Given the description of an element on the screen output the (x, y) to click on. 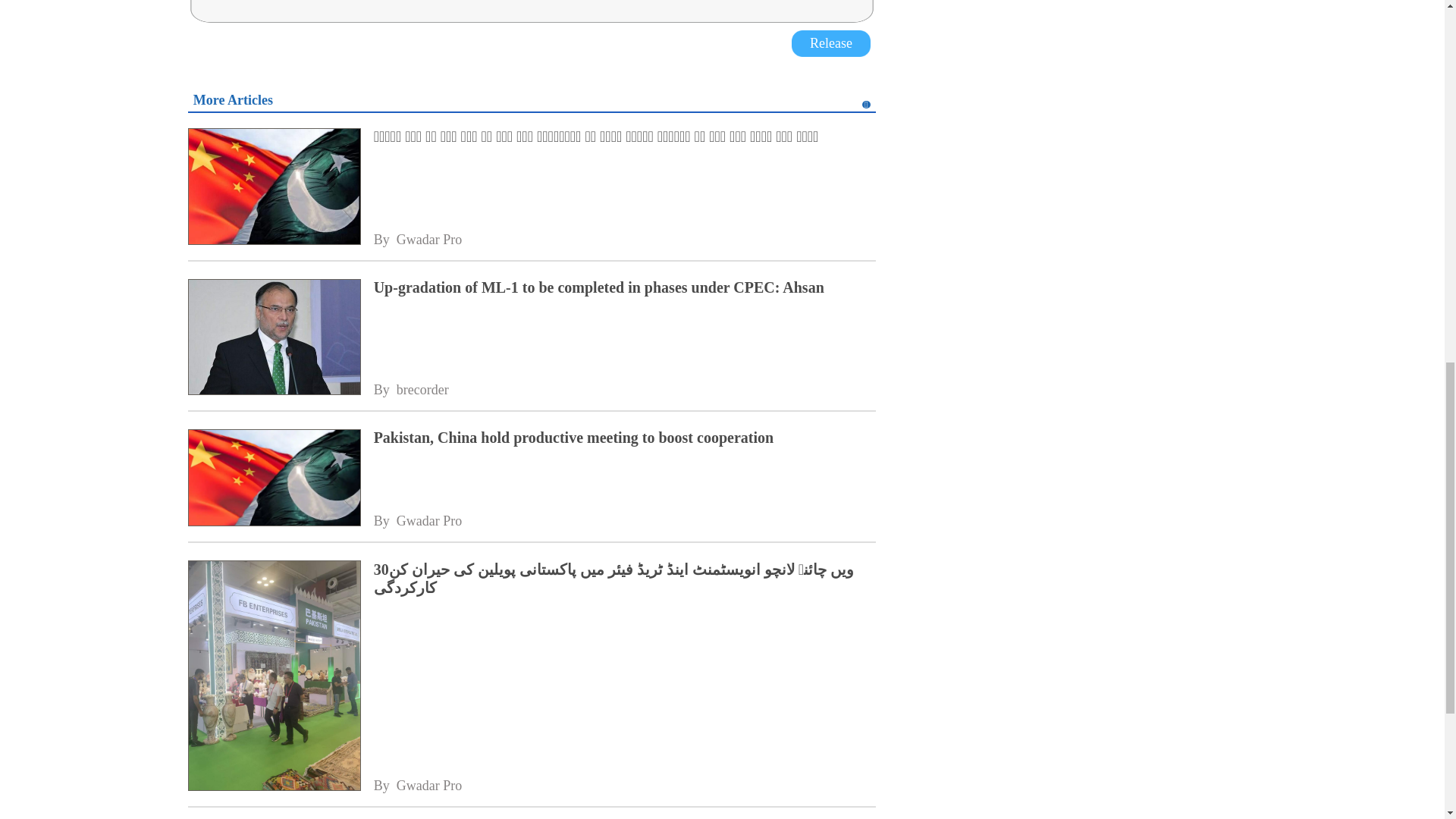
Pakistan, China hold productive meeting to boost cooperation (625, 437)
Pakistan, China hold productive meeting to boost cooperation (273, 479)
Pakistan, China hold productive meeting to boost cooperation (625, 437)
Release (831, 43)
